Given the description of an element on the screen output the (x, y) to click on. 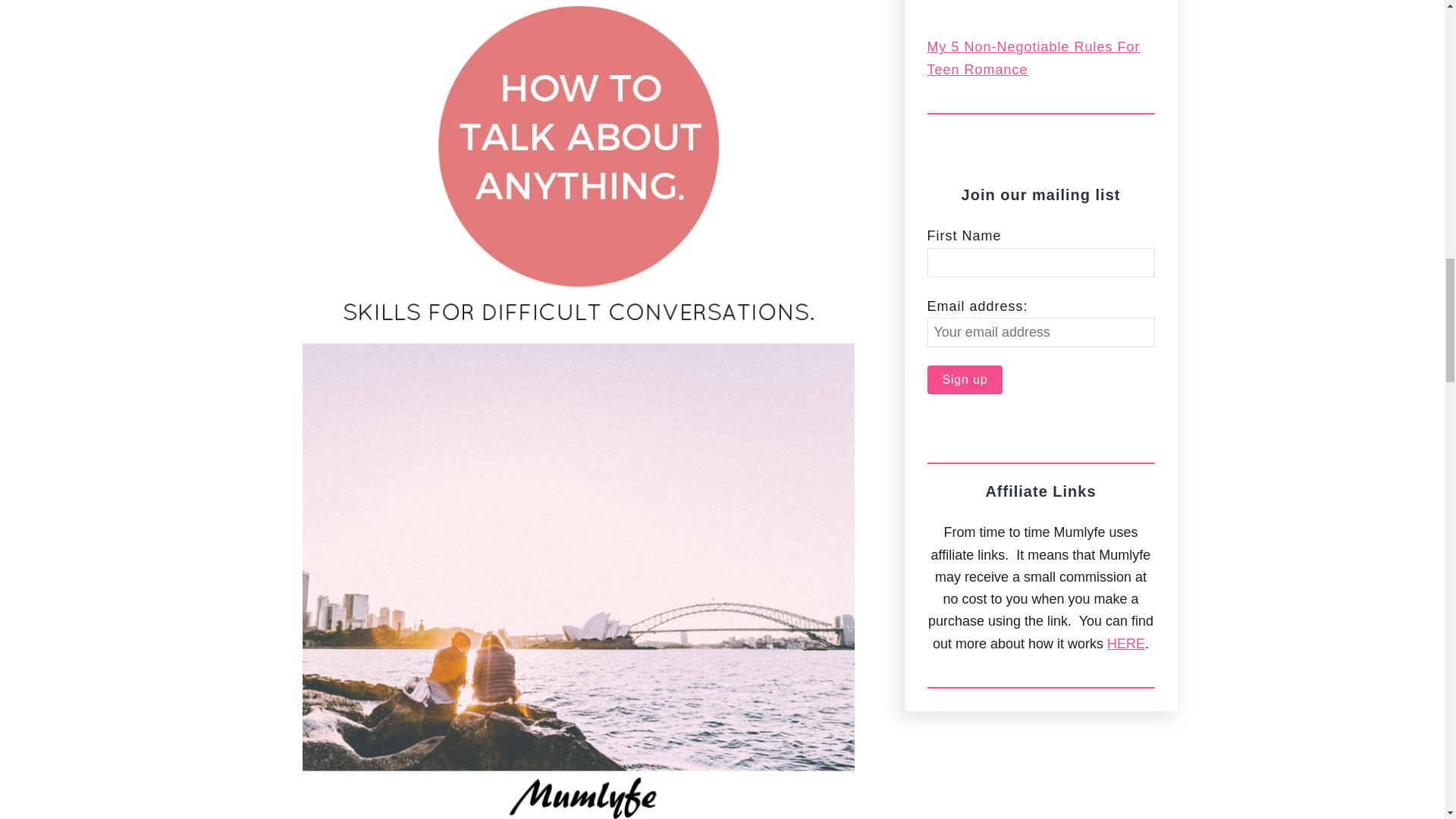
Sign up (964, 379)
